Given the description of an element on the screen output the (x, y) to click on. 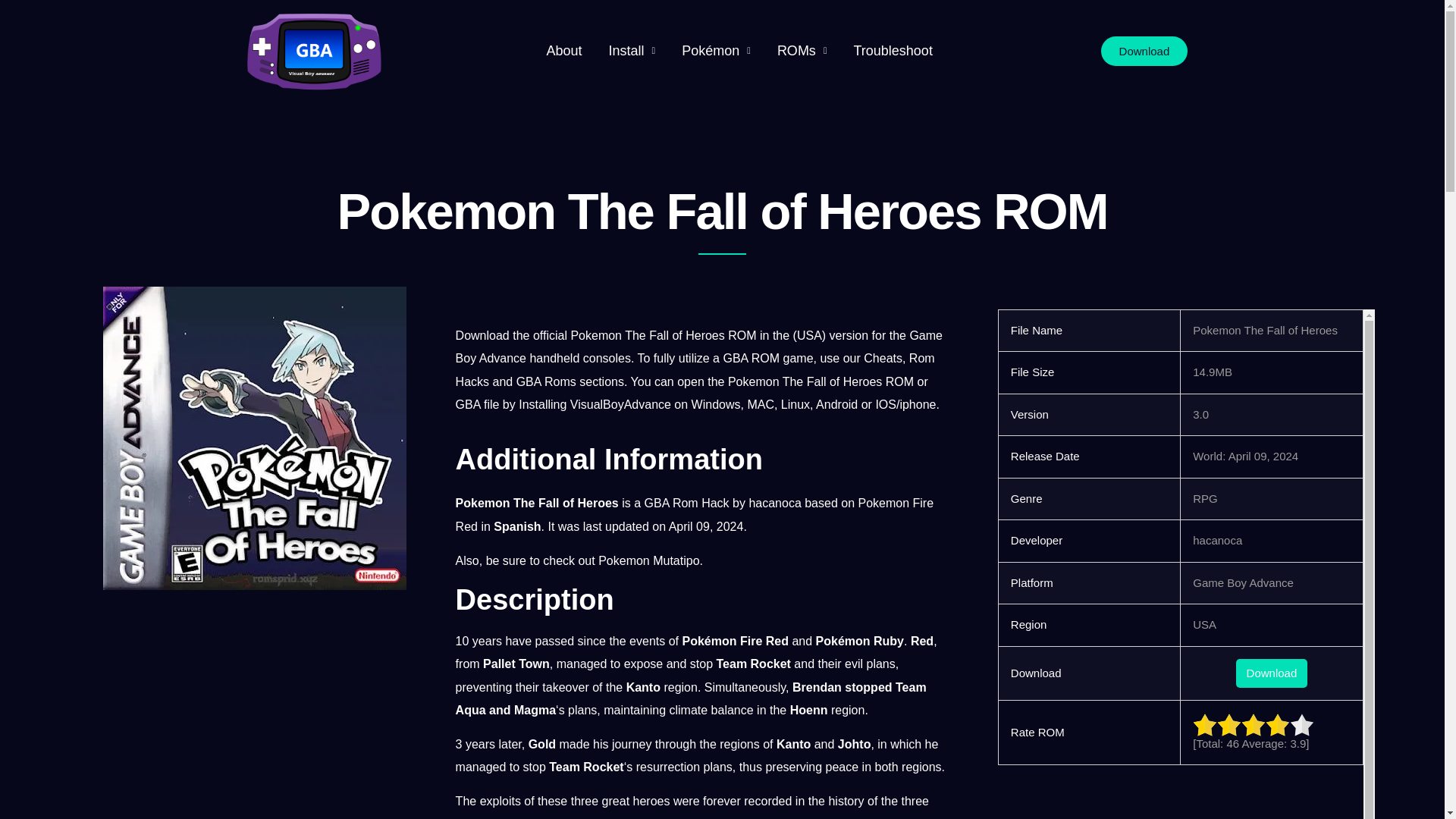
ROMs (802, 51)
Install (632, 51)
Troubleshoot (892, 51)
Advertisement (1185, 796)
Advertisement (253, 702)
Download (1144, 51)
